Given the description of an element on the screen output the (x, y) to click on. 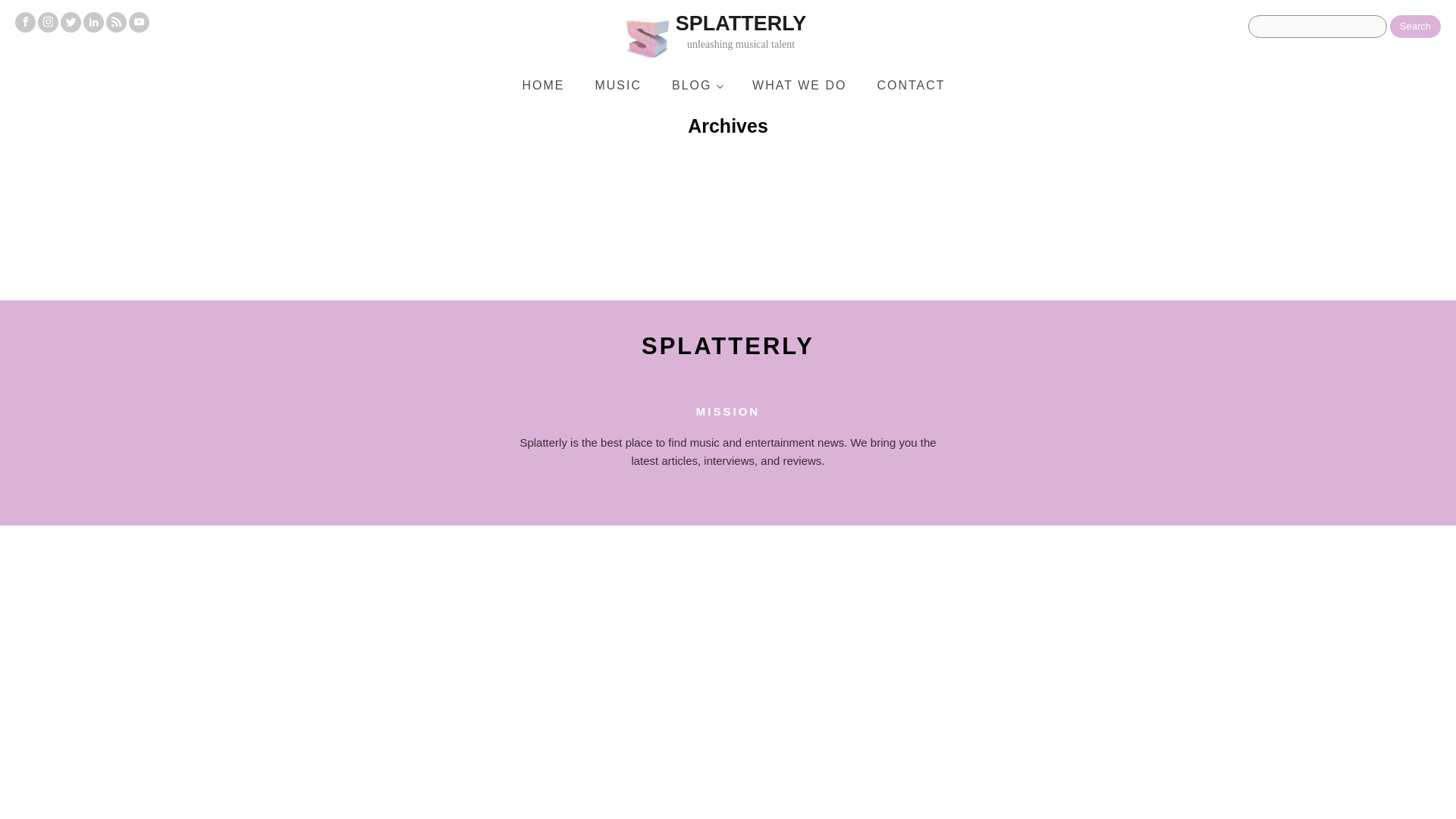
Search (1415, 26)
MUSIC (617, 85)
Search (1415, 26)
HOME (542, 85)
WHAT WE DO (798, 85)
SPLATTERLY (727, 346)
CONTACT (910, 85)
BLOG (759, 36)
